Given the description of an element on the screen output the (x, y) to click on. 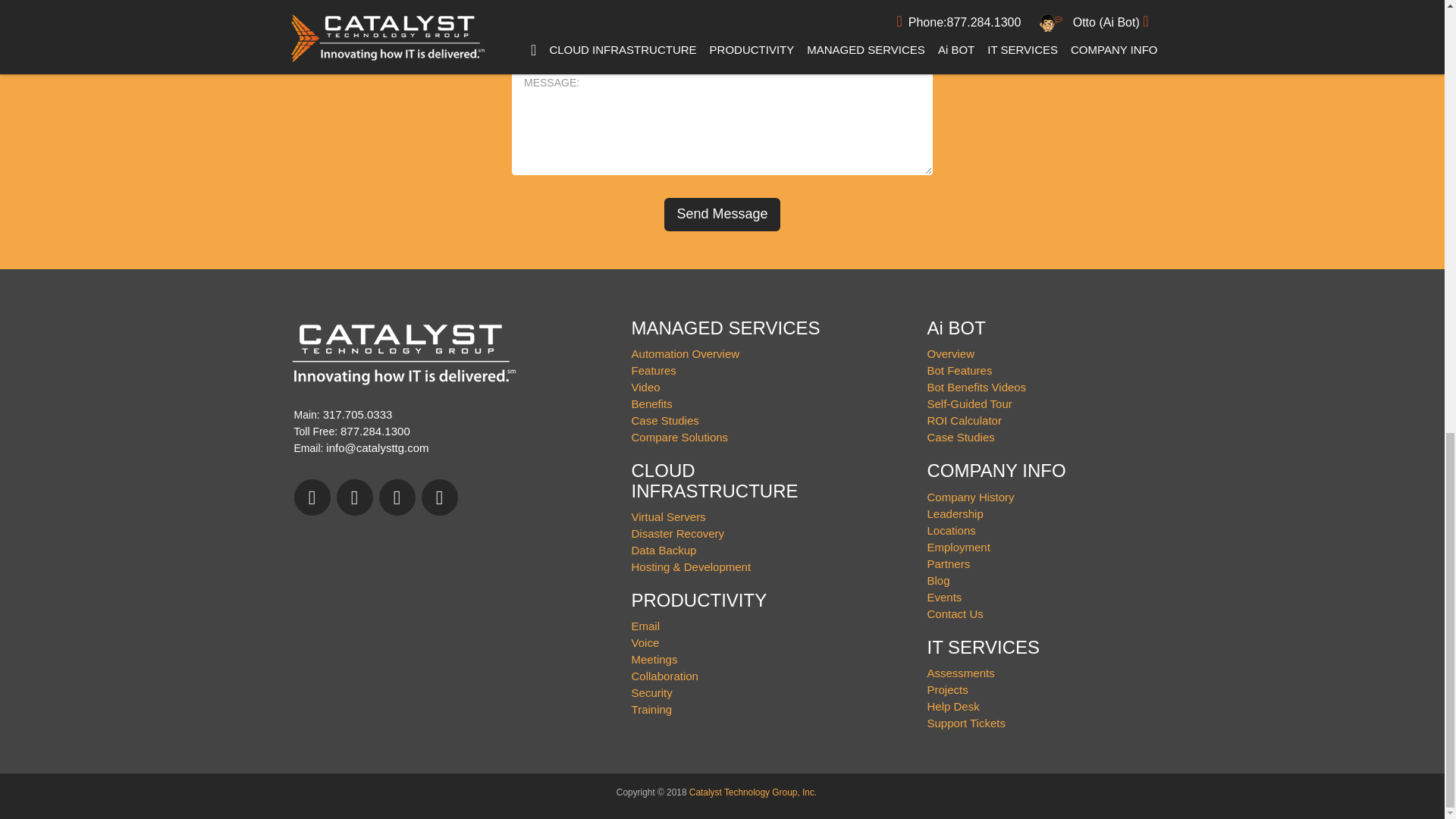
Bot Benefits Videos (976, 386)
Compare Solutions (680, 436)
Send Message (720, 214)
Bot Features (959, 369)
Training (651, 708)
Meetings (654, 658)
Projects (947, 689)
Overview (951, 353)
Assessments (960, 672)
Voice (645, 642)
